Given the description of an element on the screen output the (x, y) to click on. 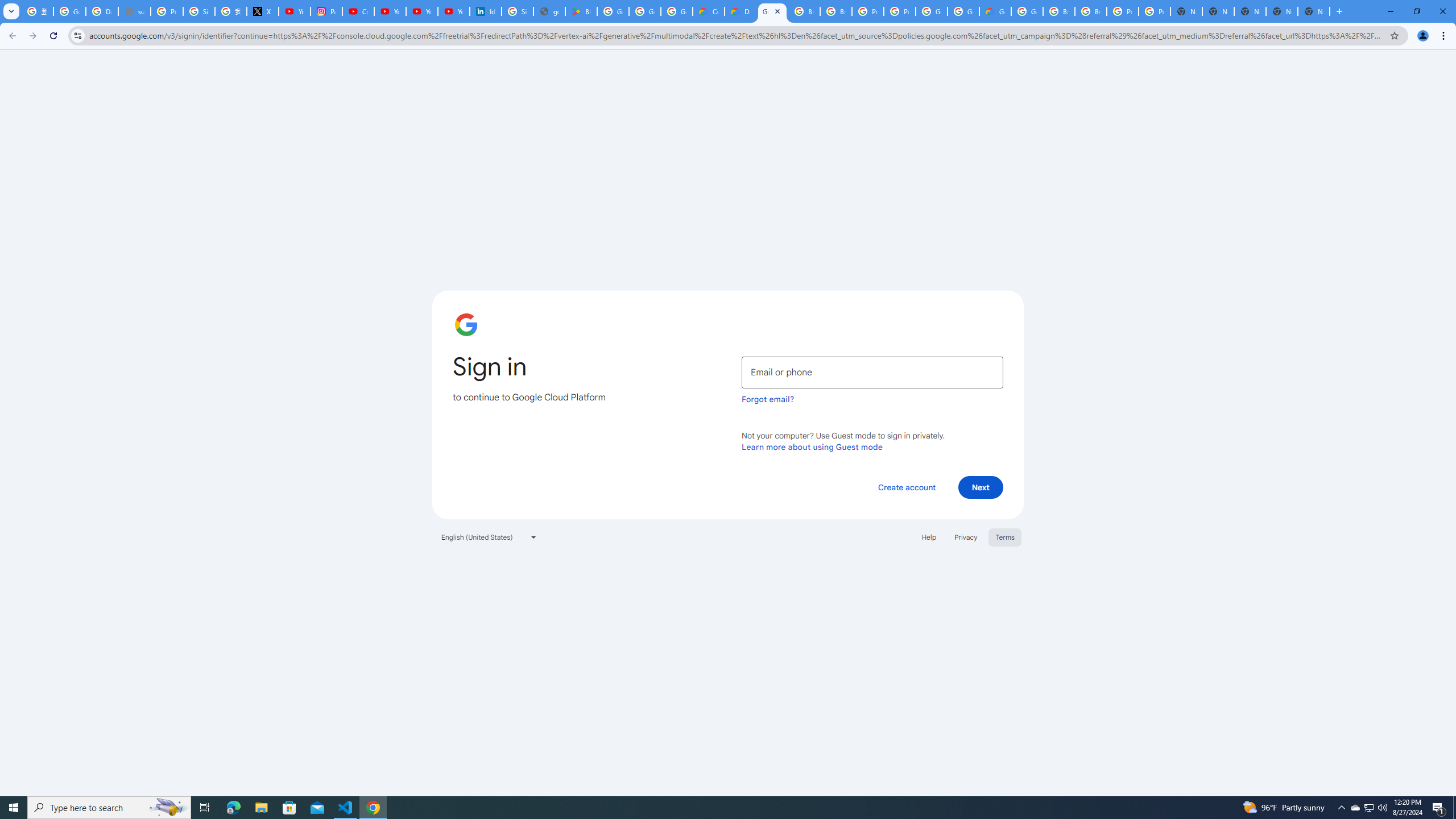
Customer Care | Google Cloud (708, 11)
Forgot email? (767, 398)
Email or phone (872, 372)
Google Workspace - Specific Terms (644, 11)
Browse Chrome as a guest - Computer - Google Chrome Help (804, 11)
